Given the description of an element on the screen output the (x, y) to click on. 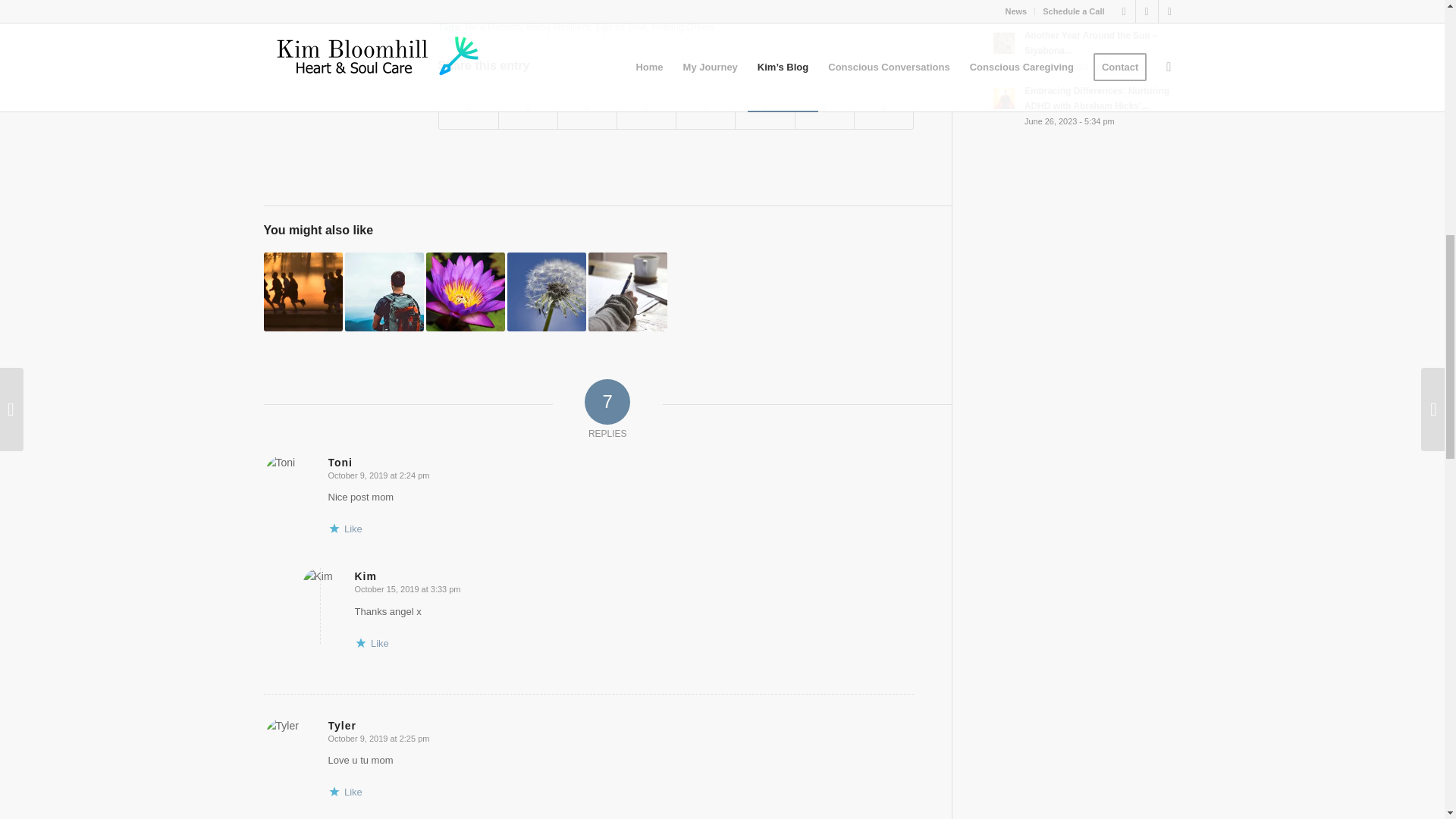
Ego vs Soul (620, 27)
October 15, 2019 at 3:33 pm (408, 588)
October 9, 2019 at 2:24 pm (378, 474)
Helping Others (682, 27)
Being Resilient (557, 27)
Be a Mensch (493, 27)
